Given the description of an element on the screen output the (x, y) to click on. 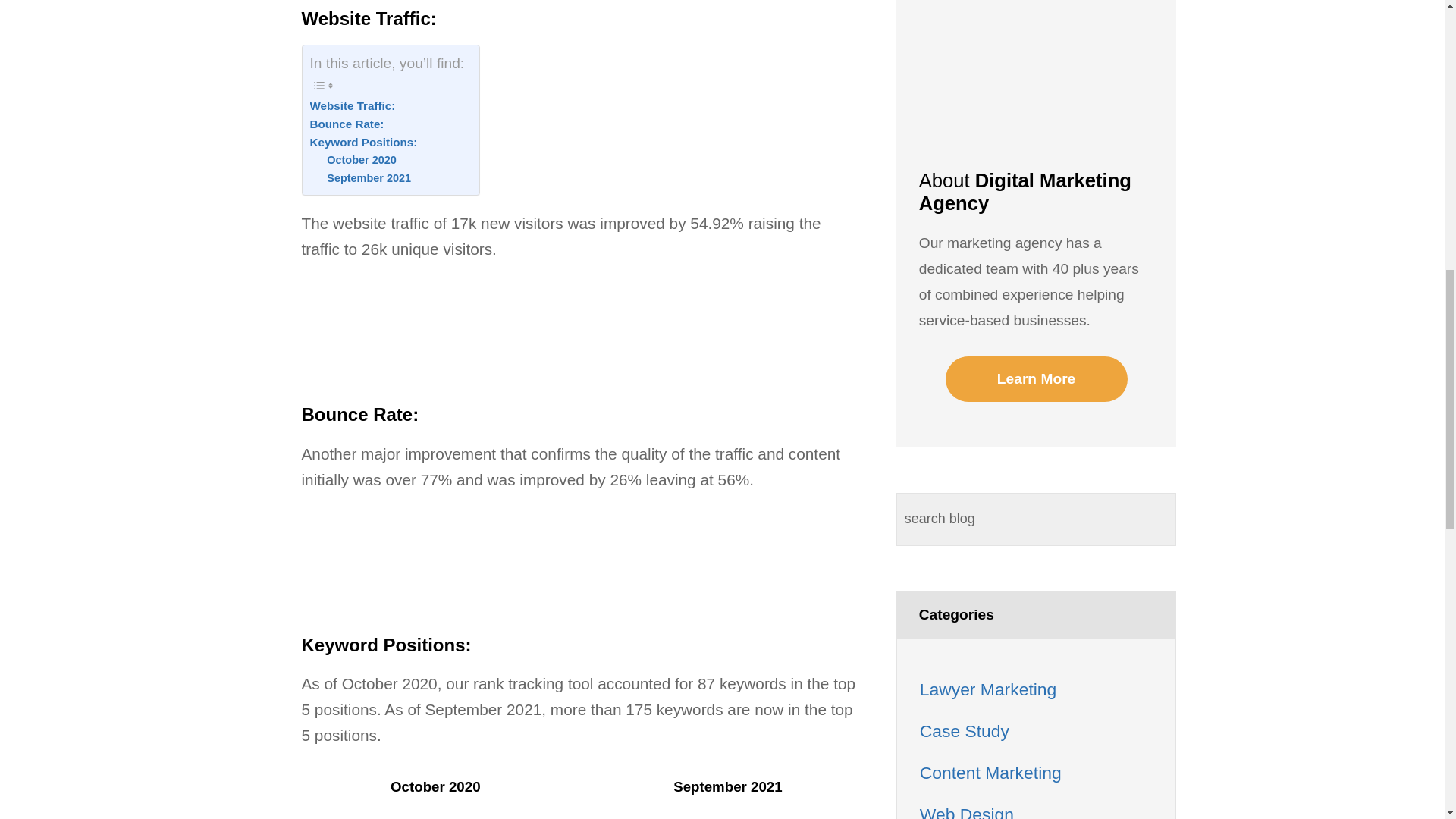
Keyword Positions: (362, 142)
Website Traffic: (351, 106)
Website Traffic: (351, 106)
Lawyer Marketing (988, 689)
September 2021 (368, 178)
September 2021 (368, 178)
Web Design (966, 811)
Learn More (1035, 379)
Content Marketing (990, 772)
Keyword Positions: (362, 142)
Bounce Rate: (346, 124)
October 2020 (361, 159)
Case Study (964, 731)
Bounce Rate: (346, 124)
October 2020 (361, 159)
